Given the description of an element on the screen output the (x, y) to click on. 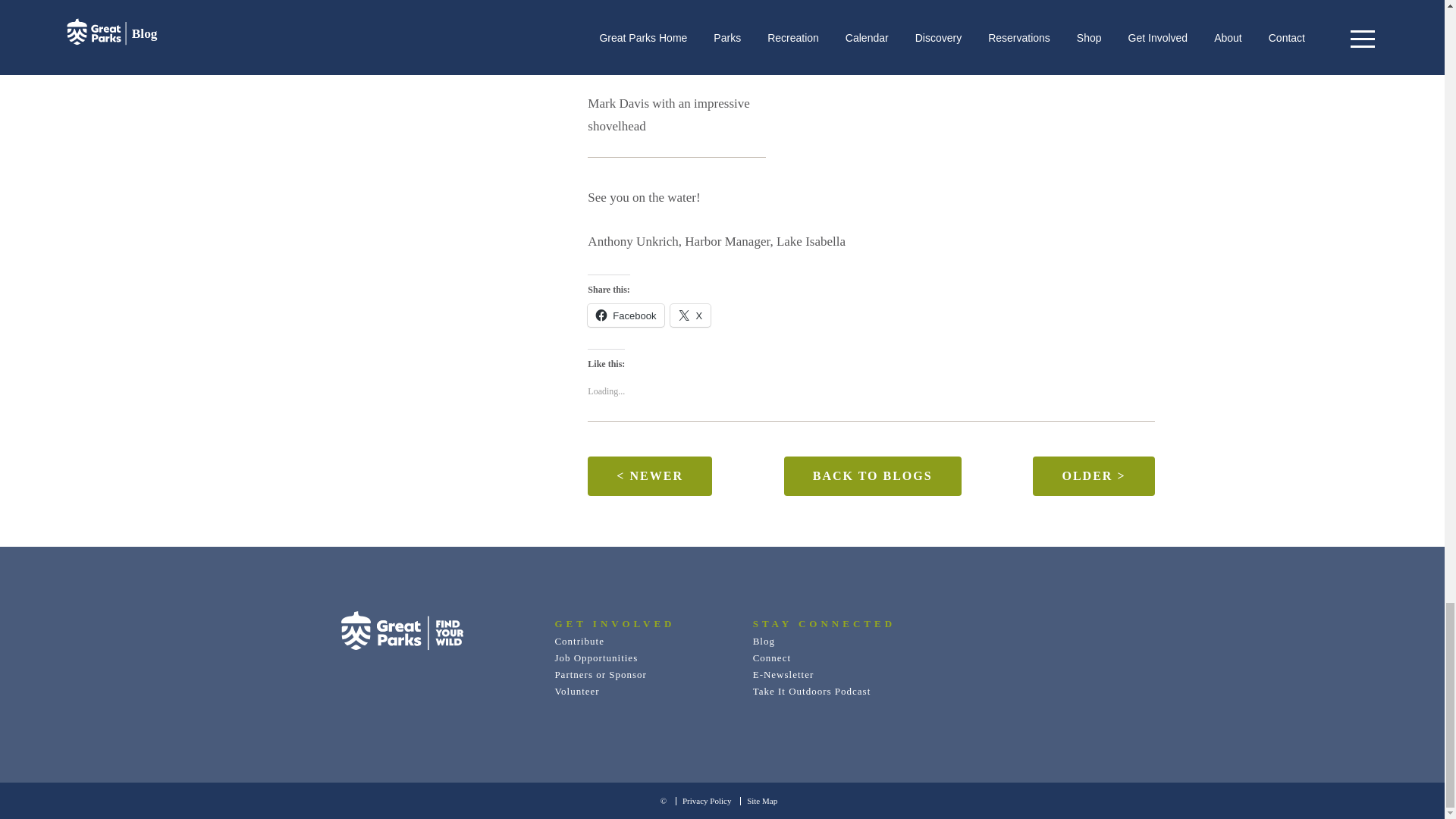
Click to share on Facebook (625, 314)
X (689, 314)
Click to share on X (689, 314)
Facebook (625, 314)
BACK TO BLOGS (872, 476)
